Given the description of an element on the screen output the (x, y) to click on. 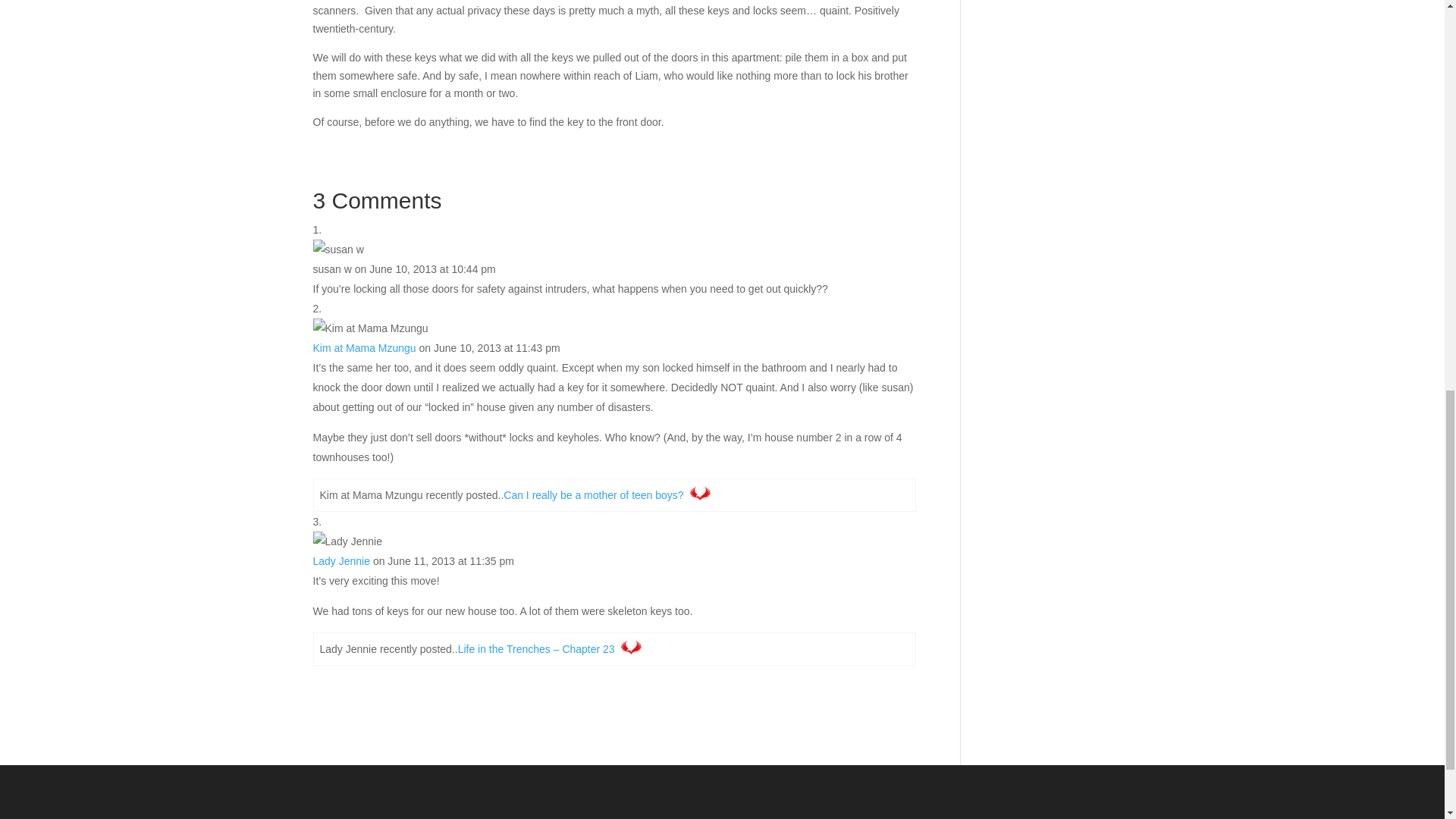
Can I really be a mother of teen boys? (592, 494)
Lady Jennie (341, 561)
Kim at Mama Mzungu (363, 347)
